Given the description of an element on the screen output the (x, y) to click on. 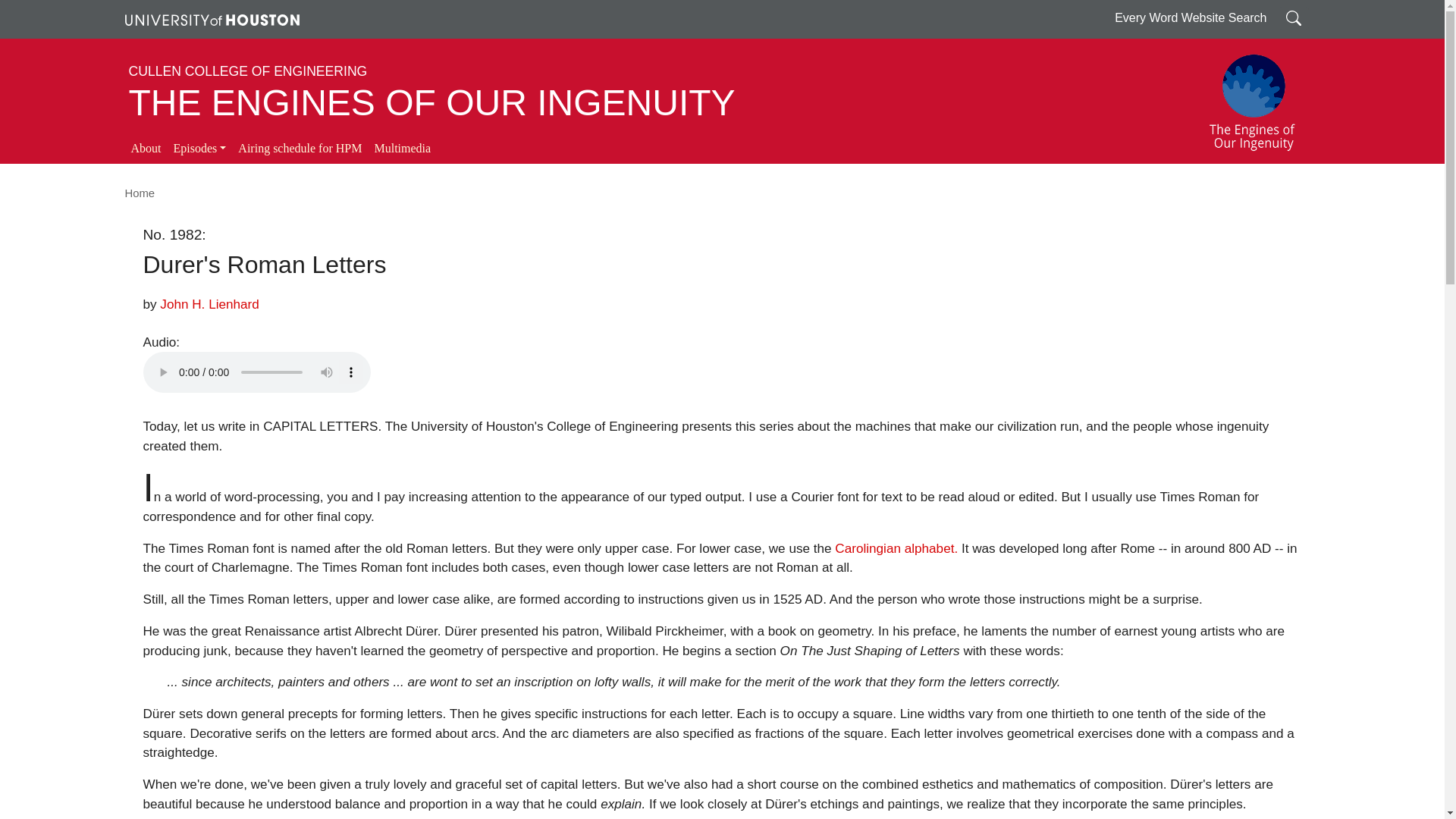
Airing schedule for HPM (299, 148)
Enter the terms you wish to search for. (1293, 17)
THE ENGINES OF OUR INGENUITY (432, 102)
Episodes (199, 148)
John H. Lienhard (209, 304)
Carolingian alphabet. (896, 548)
About (145, 148)
Multimedia (402, 148)
CULLEN COLLEGE OF ENGINEERING (248, 70)
Home (138, 193)
